Given the description of an element on the screen output the (x, y) to click on. 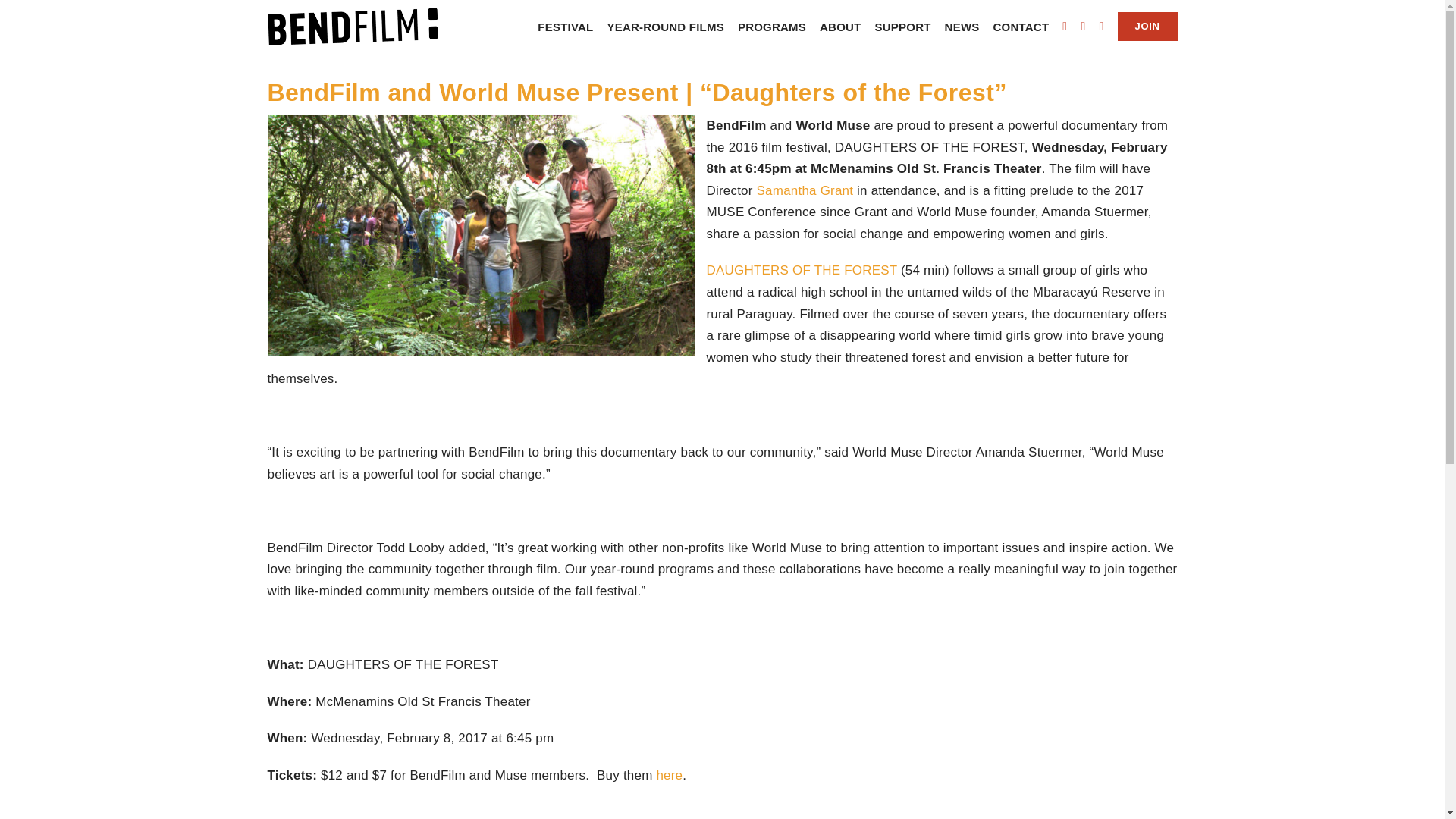
PROGRAMS (772, 26)
YEAR-ROUND FILMS (665, 26)
FESTIVAL (564, 26)
SUPPORT (903, 26)
